Given the description of an element on the screen output the (x, y) to click on. 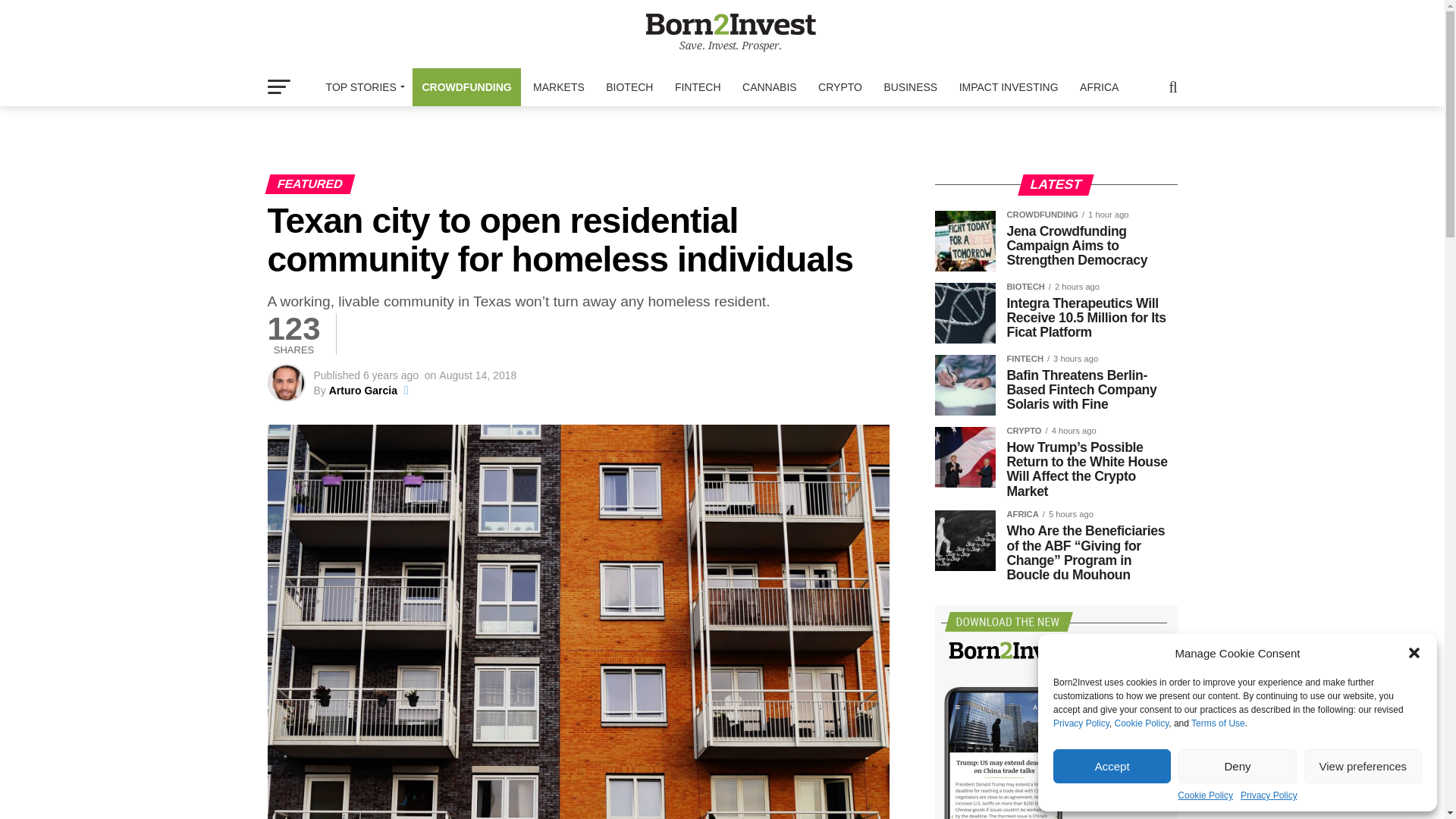
BIOTECH (629, 86)
Cookie Policy (1205, 795)
MARKETS (559, 86)
FINTECH (697, 86)
View preferences (1363, 765)
Accept (1111, 765)
Deny (1236, 765)
Terms of Use (1217, 723)
Cookie Policy (1141, 723)
Posts by Arturo Garcia (363, 390)
Privacy Policy (1080, 723)
TOP STORIES (363, 86)
CROWDFUNDING (465, 86)
Privacy Policy (1268, 795)
CANNABIS (769, 86)
